Given the description of an element on the screen output the (x, y) to click on. 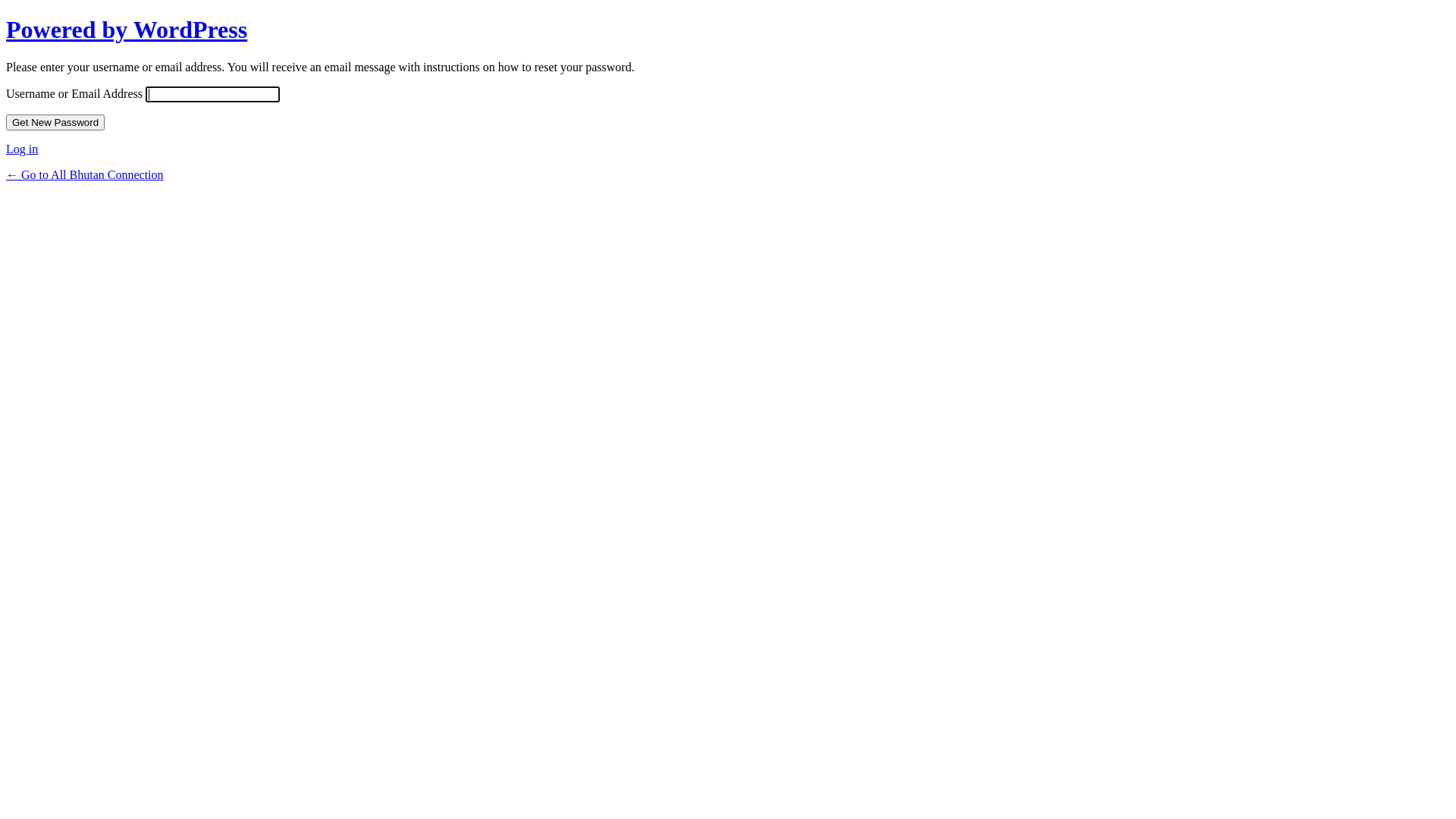
Powered by WordPress Element type: text (126, 29)
Log in Element type: text (21, 148)
Get New Password Element type: text (55, 122)
